Given the description of an element on the screen output the (x, y) to click on. 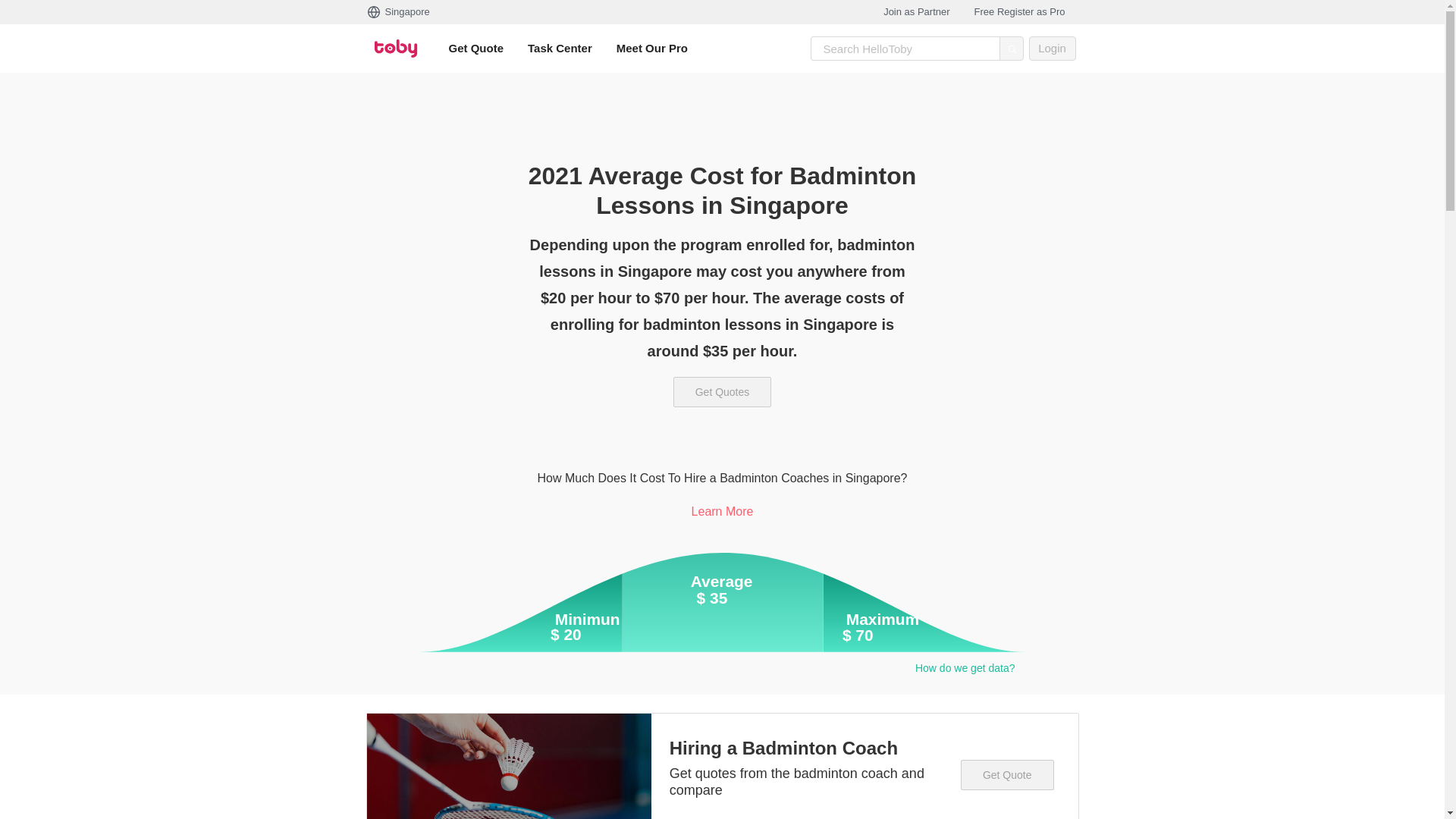
Free Register as Pro (1019, 12)
Get Quote (476, 48)
How do we get data? (965, 672)
Get Quote (1007, 775)
Login (1051, 48)
Learn More (722, 511)
Singapore (397, 12)
Task Center (559, 48)
Meet Our Pro (652, 48)
Get Quotes (721, 391)
Join as Partner (916, 12)
